Given the description of an element on the screen output the (x, y) to click on. 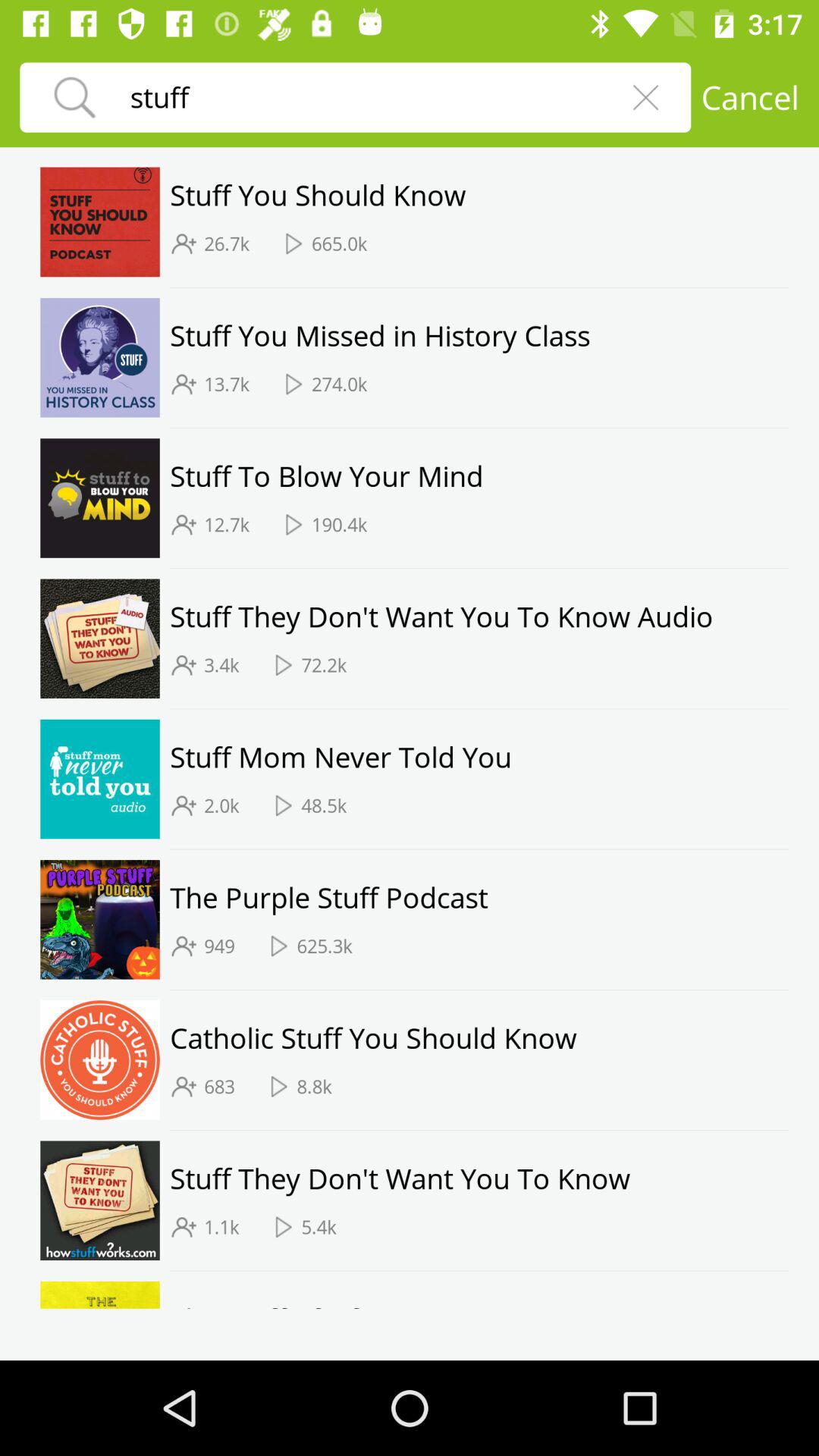
press the item next to stuff icon (645, 97)
